Given the description of an element on the screen output the (x, y) to click on. 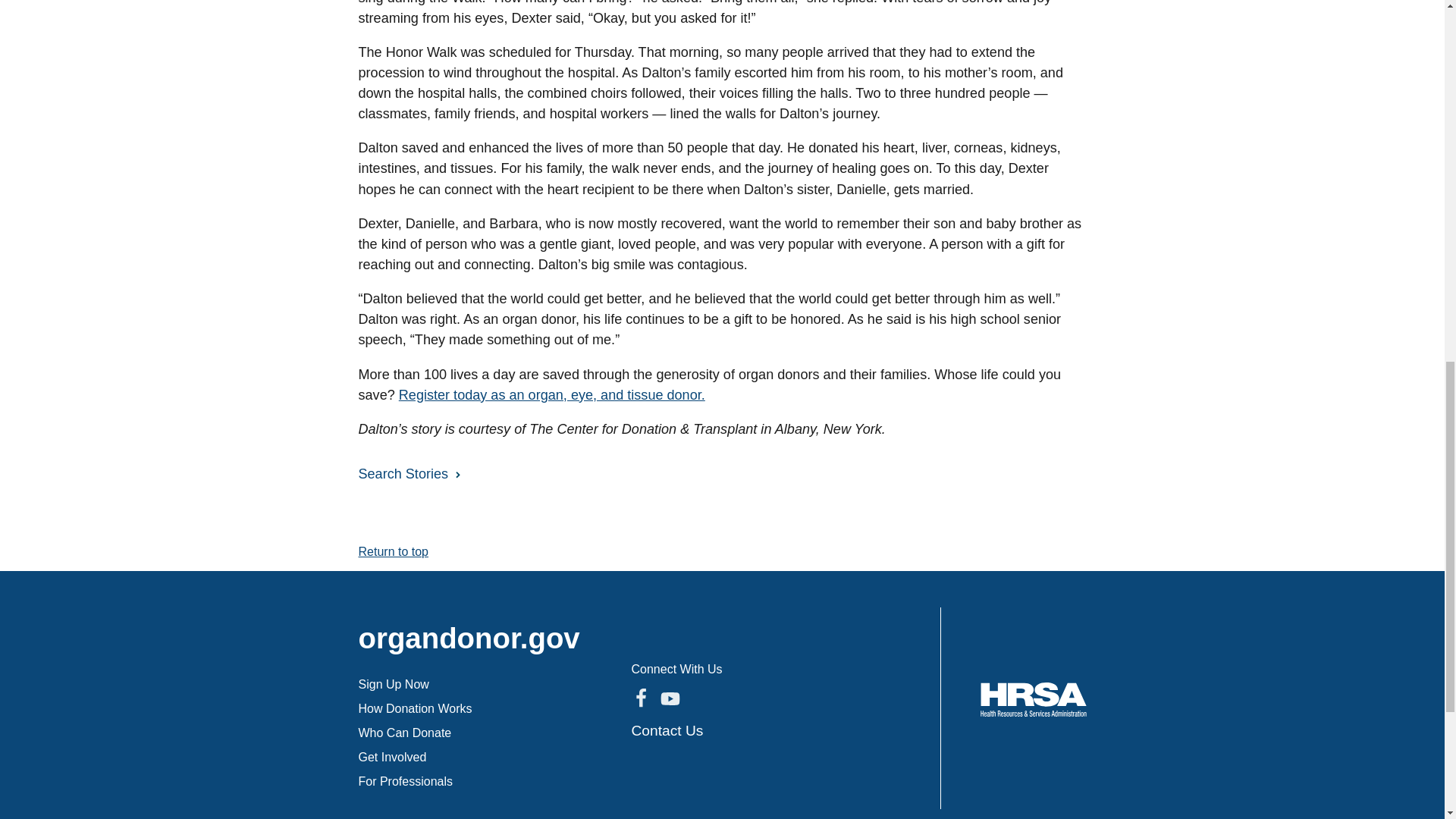
Facebook (640, 698)
Register today as an organ, eye, and tissue donor. (551, 394)
Get Involved (392, 757)
YouTube (669, 698)
Sign Up Now (393, 684)
How Donation Works (414, 707)
Return to top (393, 551)
HRSA Health Resources and Services Administration (1032, 699)
Search Stories (406, 473)
Contact Us (666, 730)
For Professionals (405, 780)
Who Can Donate (404, 732)
